Given the description of an element on the screen output the (x, y) to click on. 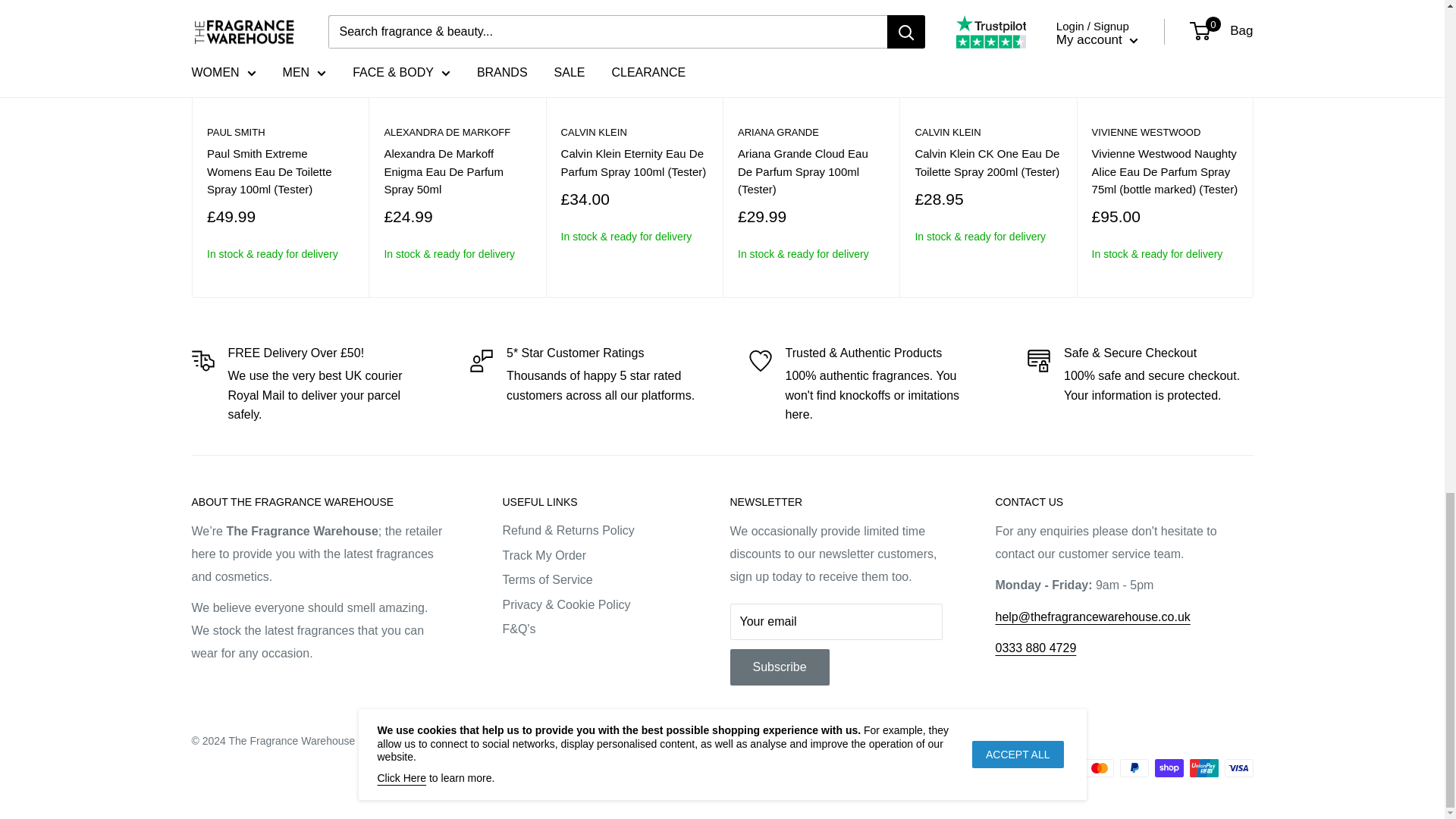
tel:0333 880 4729 (1034, 647)
